Given the description of an element on the screen output the (x, y) to click on. 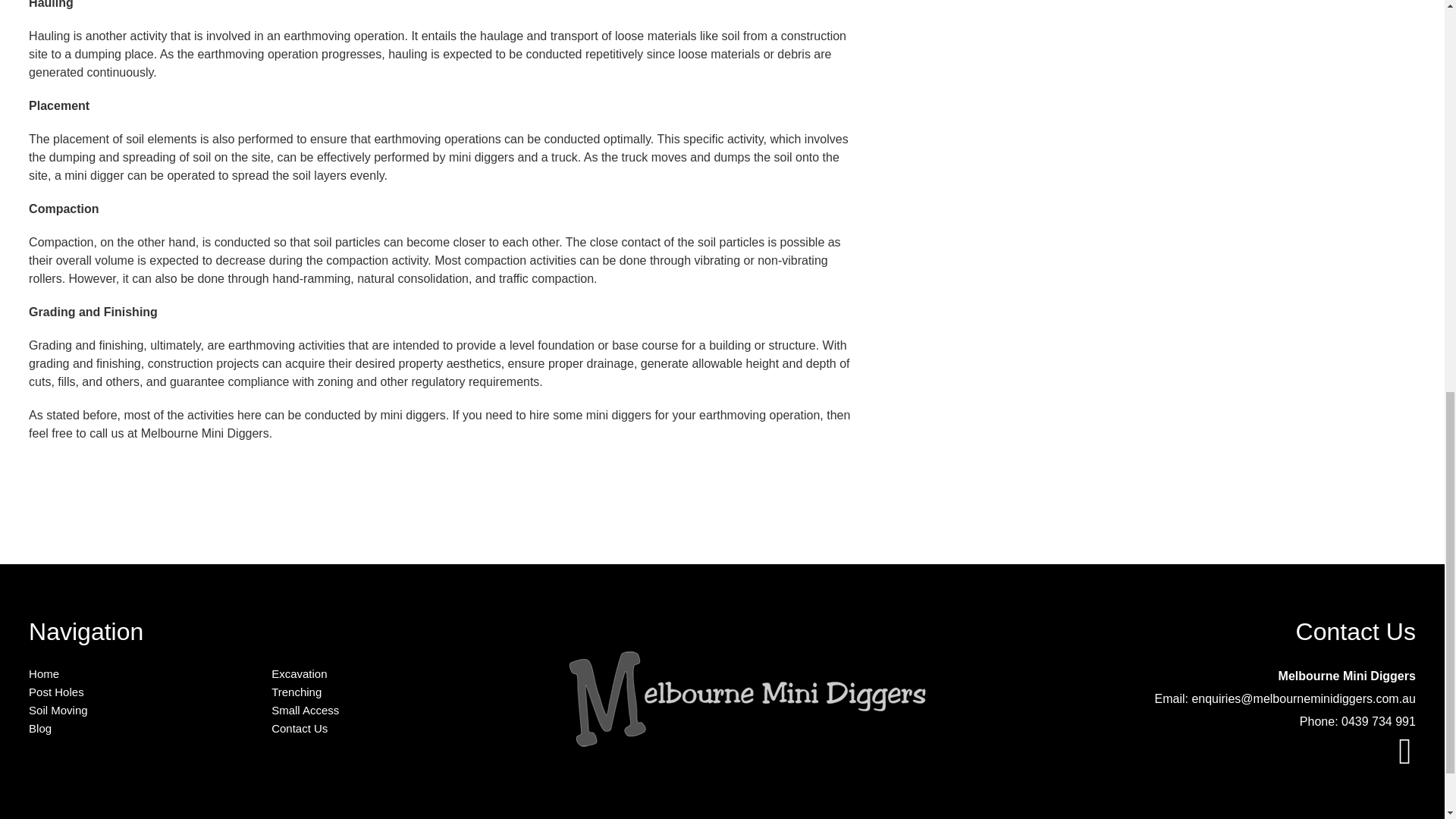
Trenching (295, 691)
Home (44, 673)
Post Holes (56, 691)
Excavation (298, 673)
Soil Moving (58, 709)
